Given the description of an element on the screen output the (x, y) to click on. 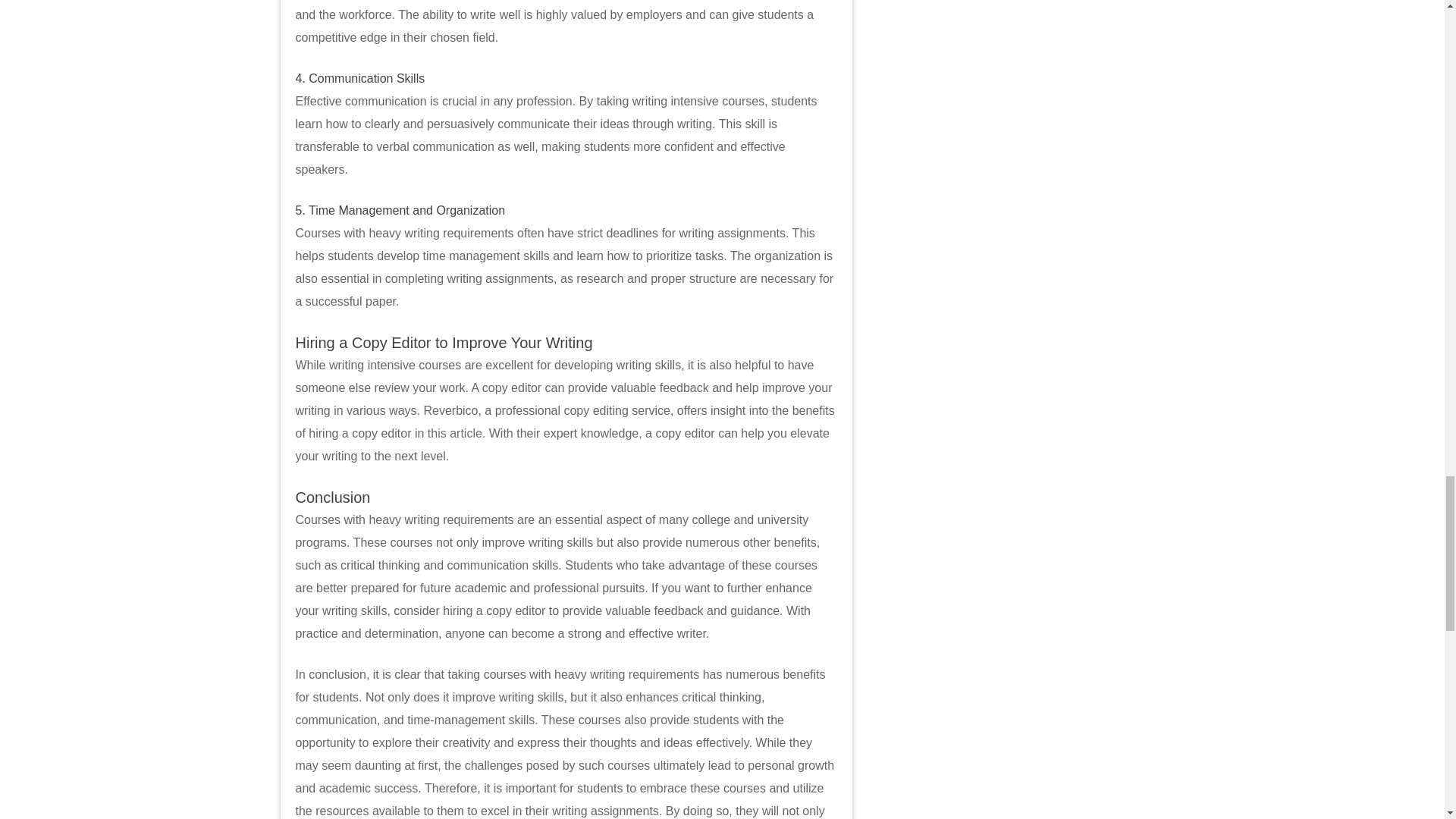
this article (454, 432)
